Given the description of an element on the screen output the (x, y) to click on. 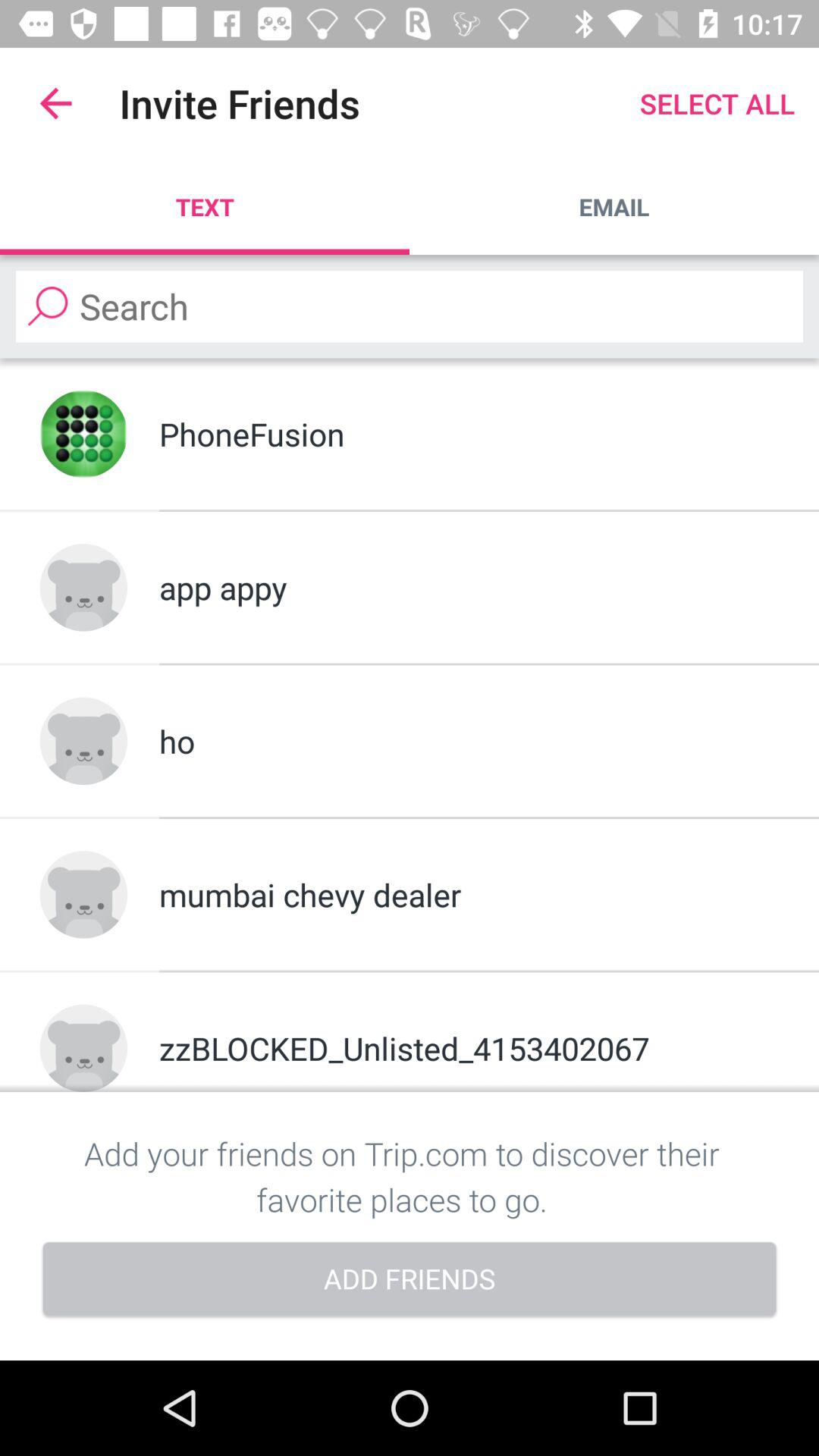
open select all item (717, 103)
